Given the description of an element on the screen output the (x, y) to click on. 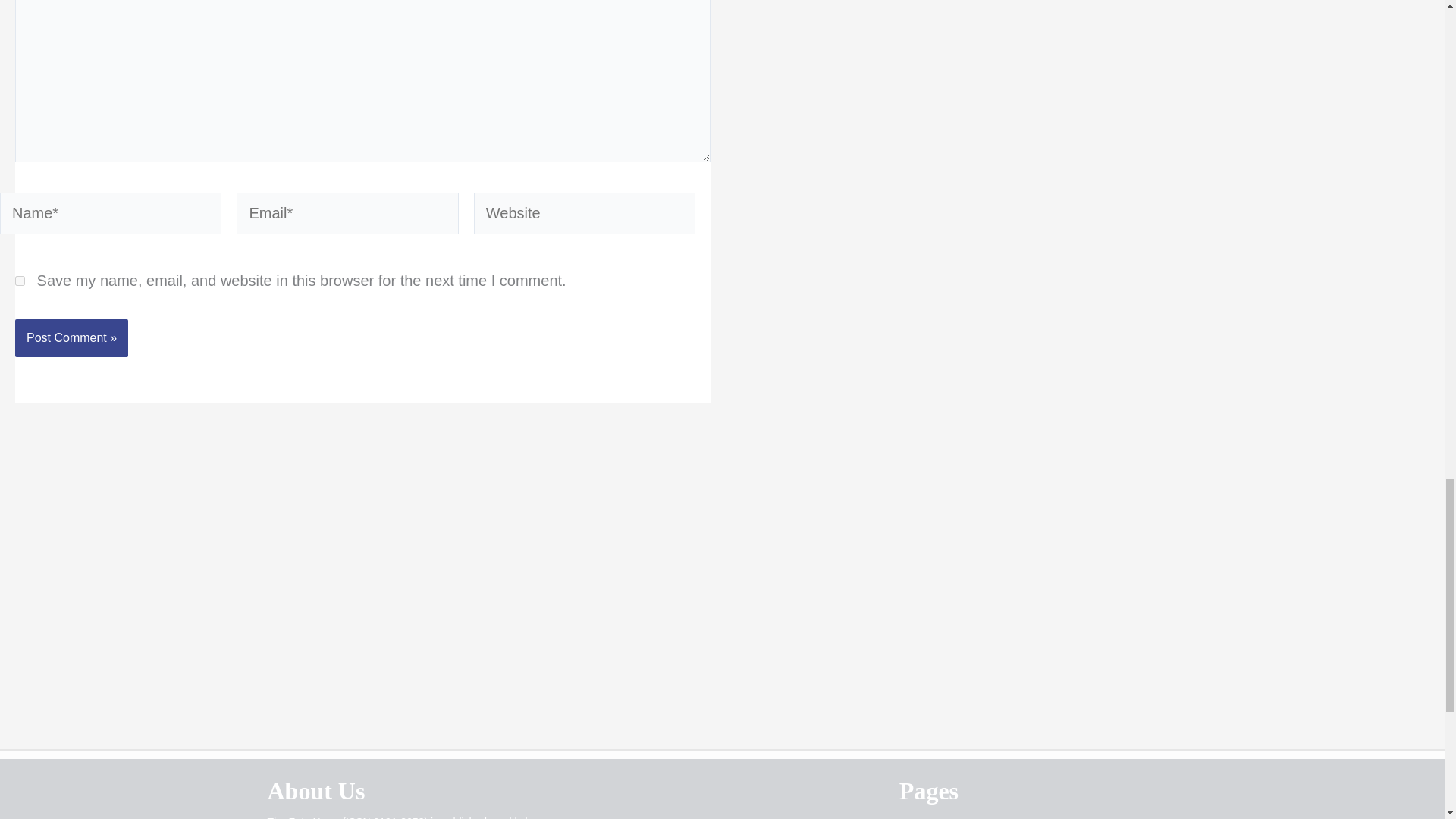
yes (19, 280)
